Given the description of an element on the screen output the (x, y) to click on. 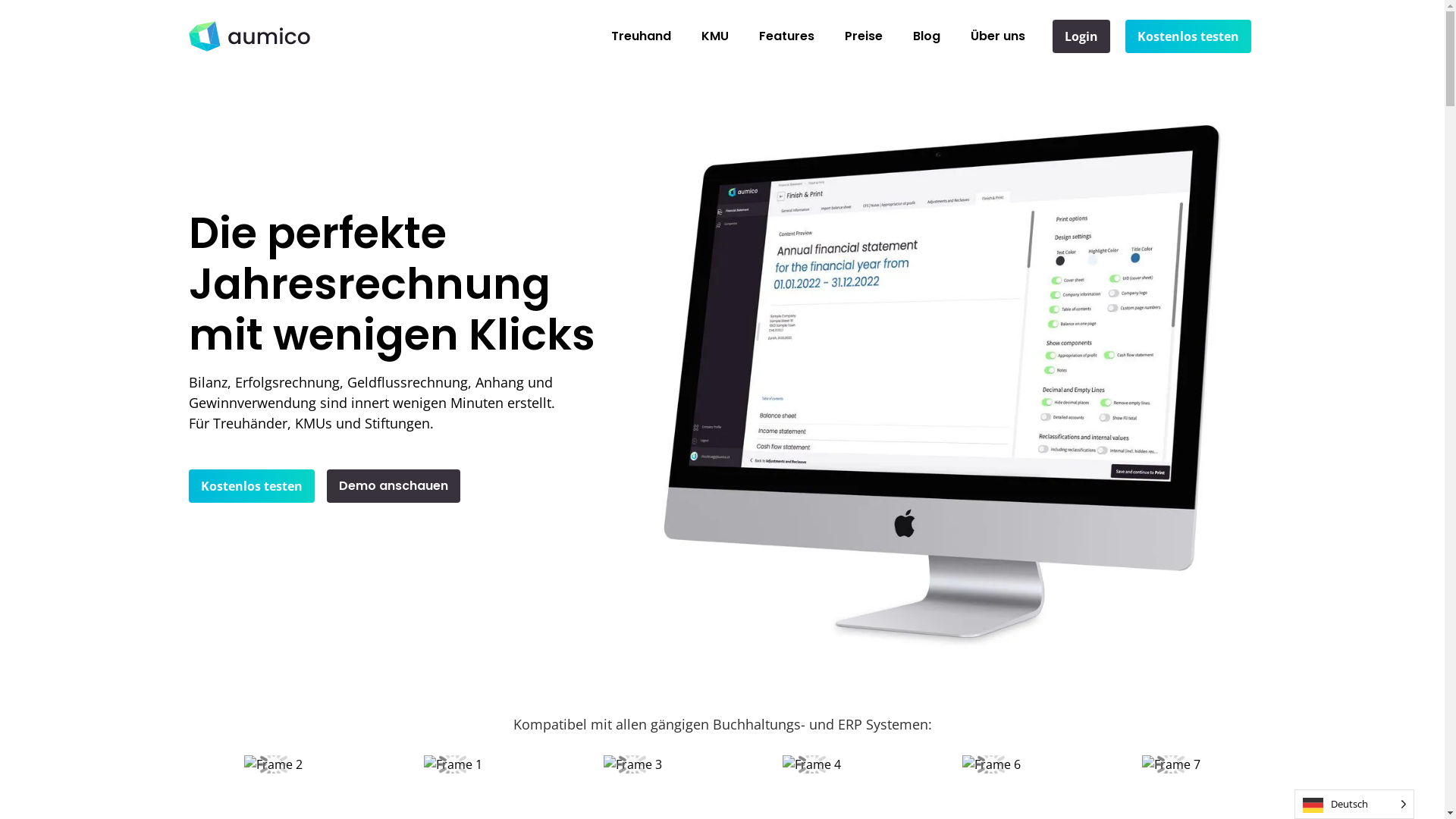
Blog Element type: text (926, 35)
Preise Element type: text (863, 35)
Kostenlos testen Element type: text (250, 485)
Kostenlos testen Element type: text (1188, 36)
Treuhand Element type: text (641, 35)
Demo anschauen Element type: text (392, 485)
Features Element type: text (786, 35)
KMU Element type: text (714, 35)
Login Element type: text (1081, 36)
